Given the description of an element on the screen output the (x, y) to click on. 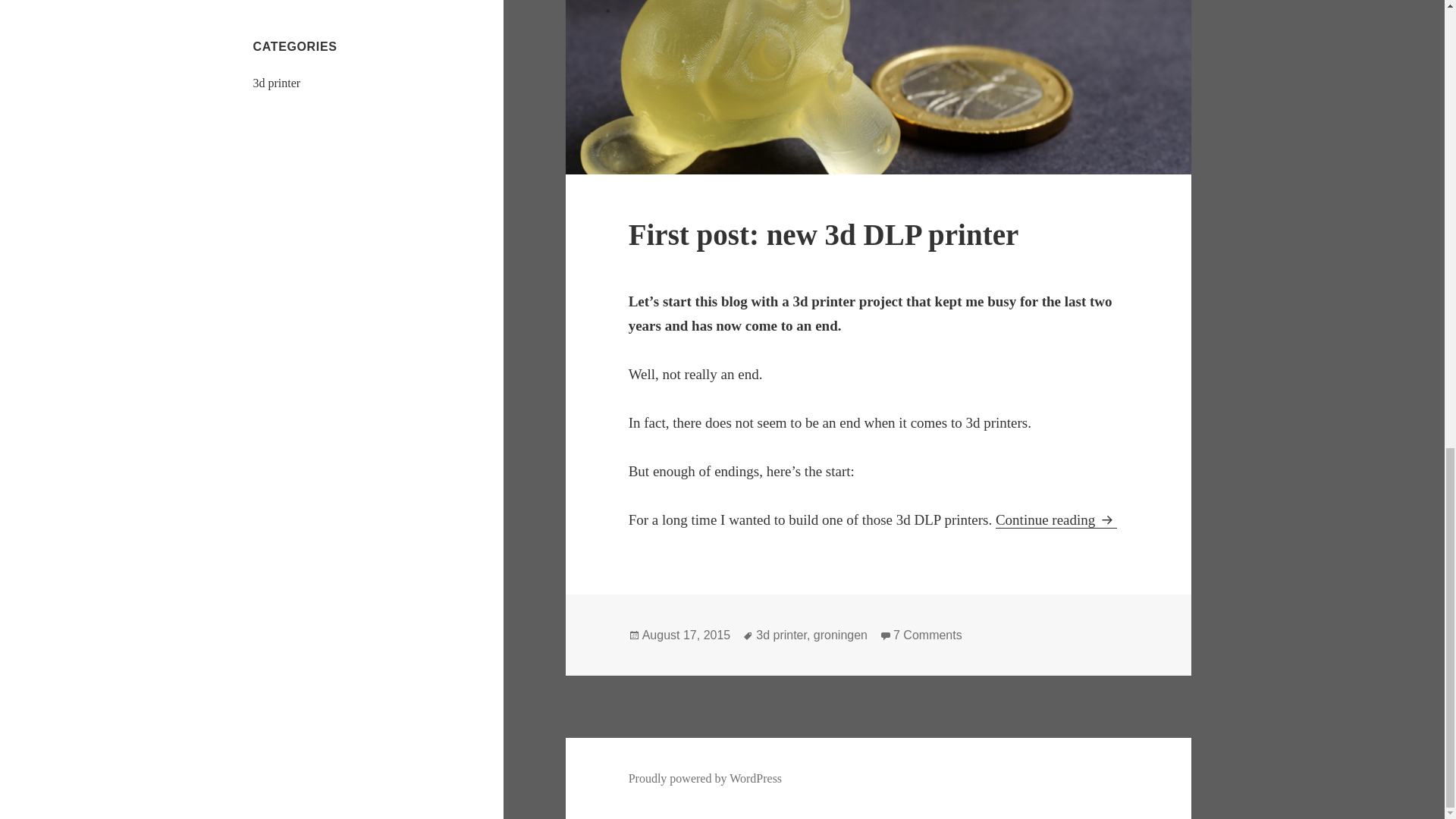
3d printer (277, 82)
3d printer (780, 635)
groningen (840, 635)
August 17, 2015 (927, 635)
Proudly powered by WordPress (1055, 519)
First post: new 3d DLP printer (686, 635)
